Given the description of an element on the screen output the (x, y) to click on. 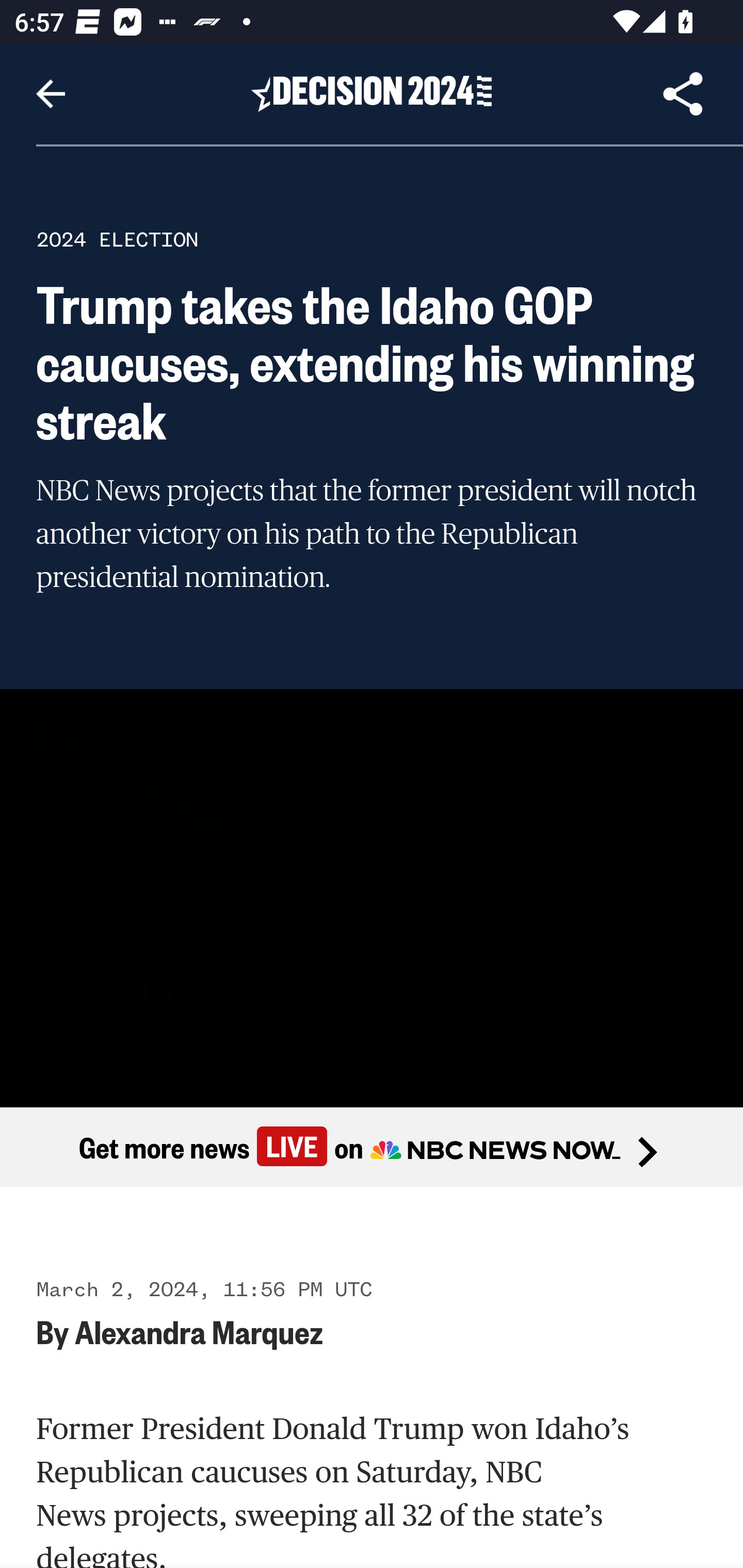
Navigate up (50, 93)
Share Article, button (683, 94)
Header, Decision 2024 (371, 93)
2024 ELECTION (117, 239)
Get more news Live on Get more news Live on (371, 1147)
